Given the description of an element on the screen output the (x, y) to click on. 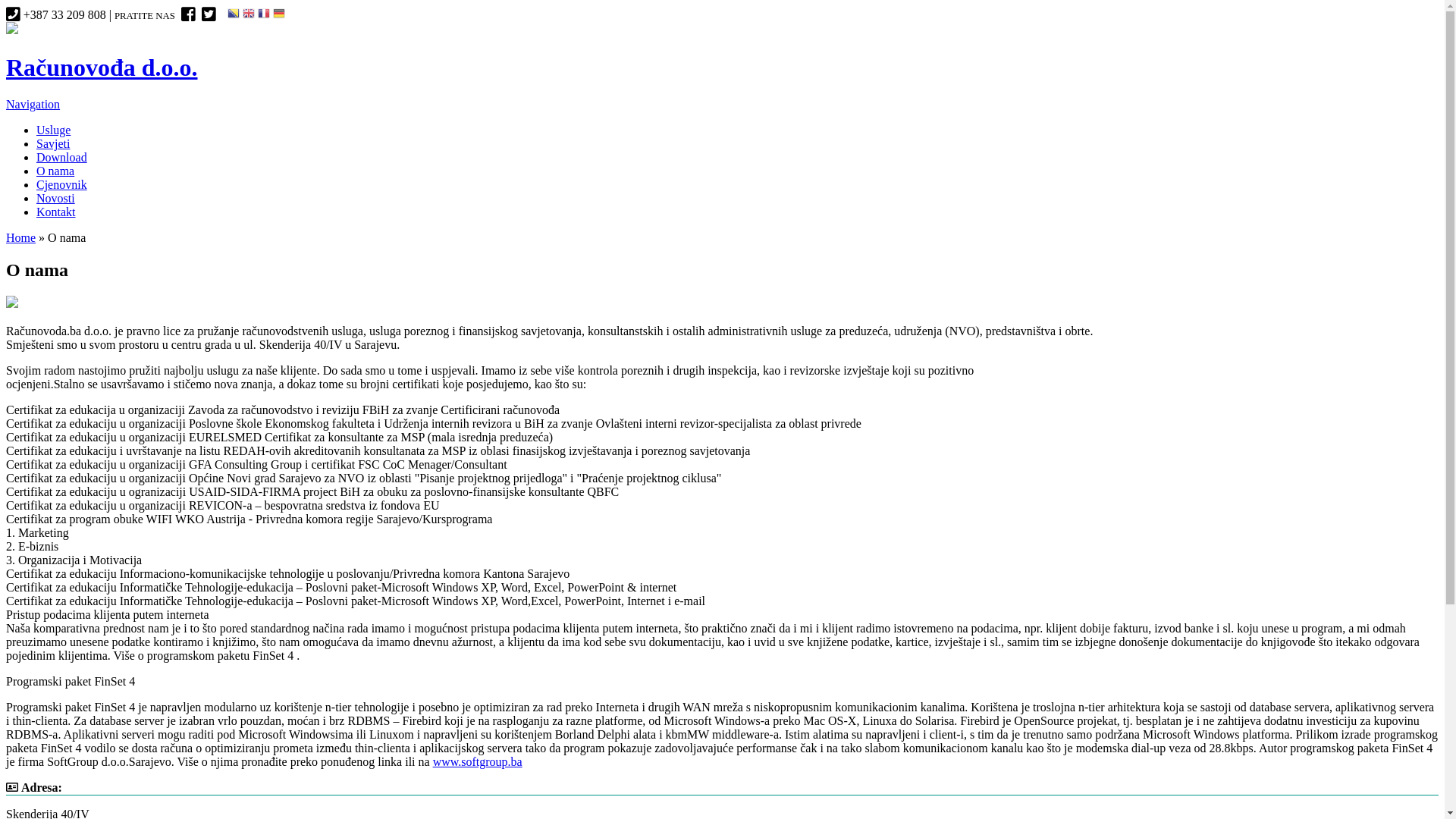
German Element type: hover (279, 14)
Home Element type: hover (12, 29)
Cjenovnik Element type: text (61, 184)
Bosnian Element type: hover (233, 14)
French Element type: hover (263, 14)
Navigation Element type: text (32, 103)
Home Element type: text (20, 237)
Usluge Element type: text (53, 129)
Kontakt Element type: text (55, 211)
Skip to main content Element type: text (56, 21)
English Element type: hover (248, 14)
O nama Element type: text (55, 170)
www.softgroup.ba Element type: text (477, 761)
Download Element type: text (61, 156)
Savjeti Element type: text (52, 143)
Novosti Element type: text (55, 197)
